Given the description of an element on the screen output the (x, y) to click on. 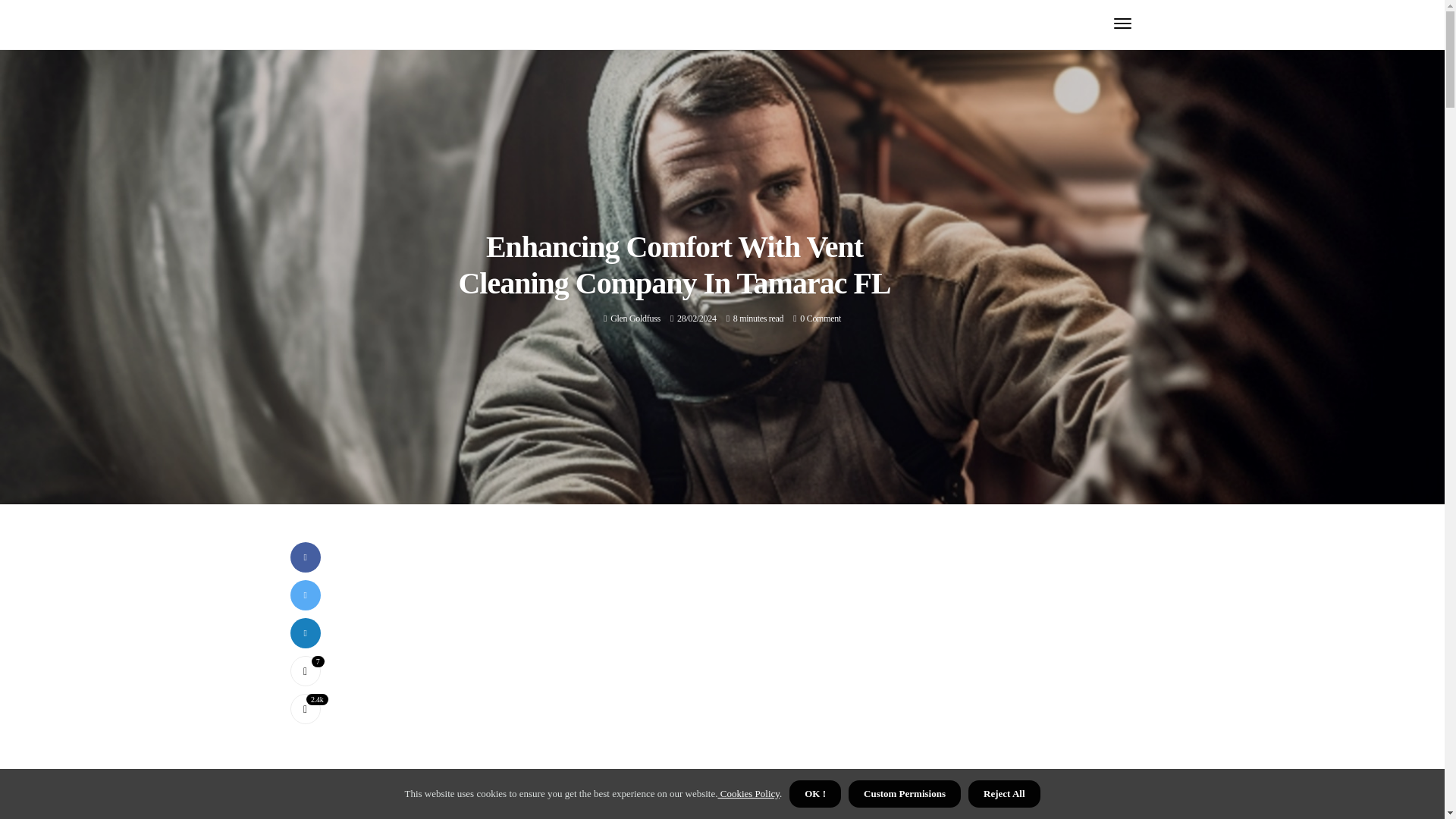
Like (304, 671)
7 (304, 671)
0 Comment (820, 317)
Glen Goldfuss (635, 317)
Posts by Glen Goldfuss (635, 317)
